Given the description of an element on the screen output the (x, y) to click on. 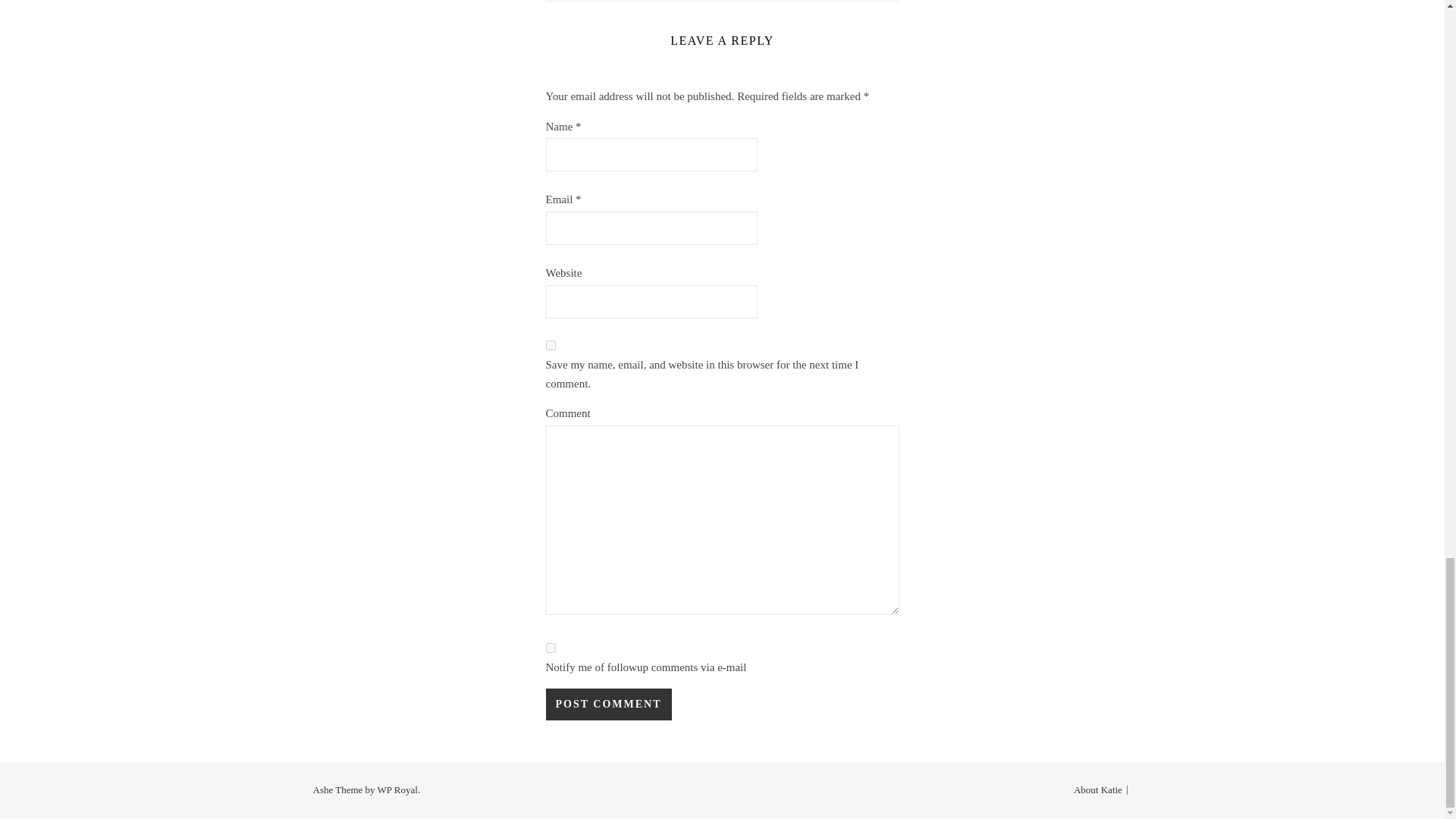
Post Comment (608, 704)
Post Comment (608, 704)
subscribe (551, 647)
yes (551, 345)
